Given the description of an element on the screen output the (x, y) to click on. 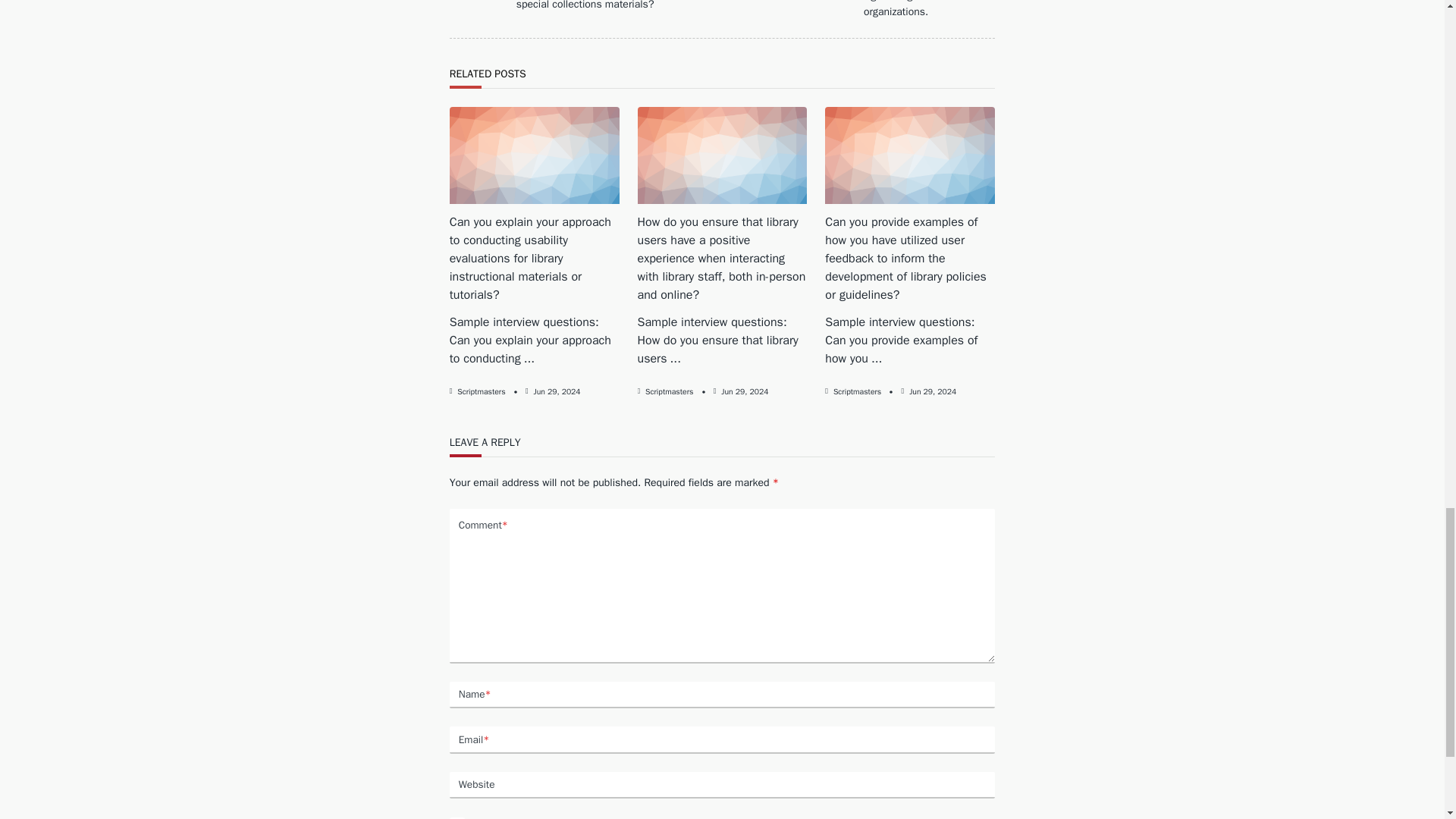
Scriptmasters (481, 391)
Scriptmasters (669, 391)
Jun 29, 2024 (557, 391)
Scriptmasters (856, 391)
Jun 29, 2024 (744, 391)
